Given the description of an element on the screen output the (x, y) to click on. 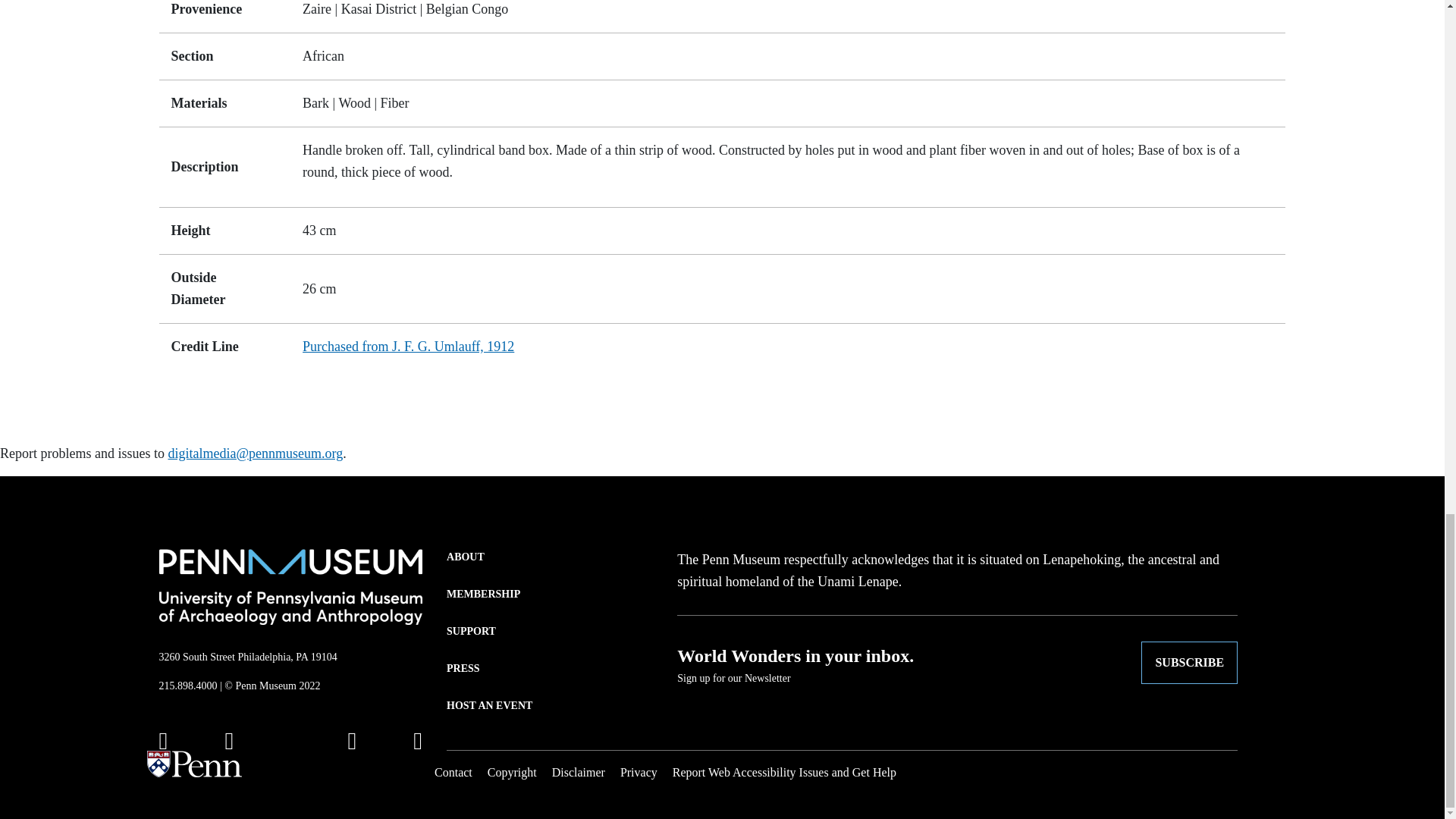
Copyright (512, 772)
Contact (452, 772)
Privacy (639, 772)
Report Web Accessibility Issues and Get Help (784, 772)
Disclaimer (578, 772)
